Given the description of an element on the screen output the (x, y) to click on. 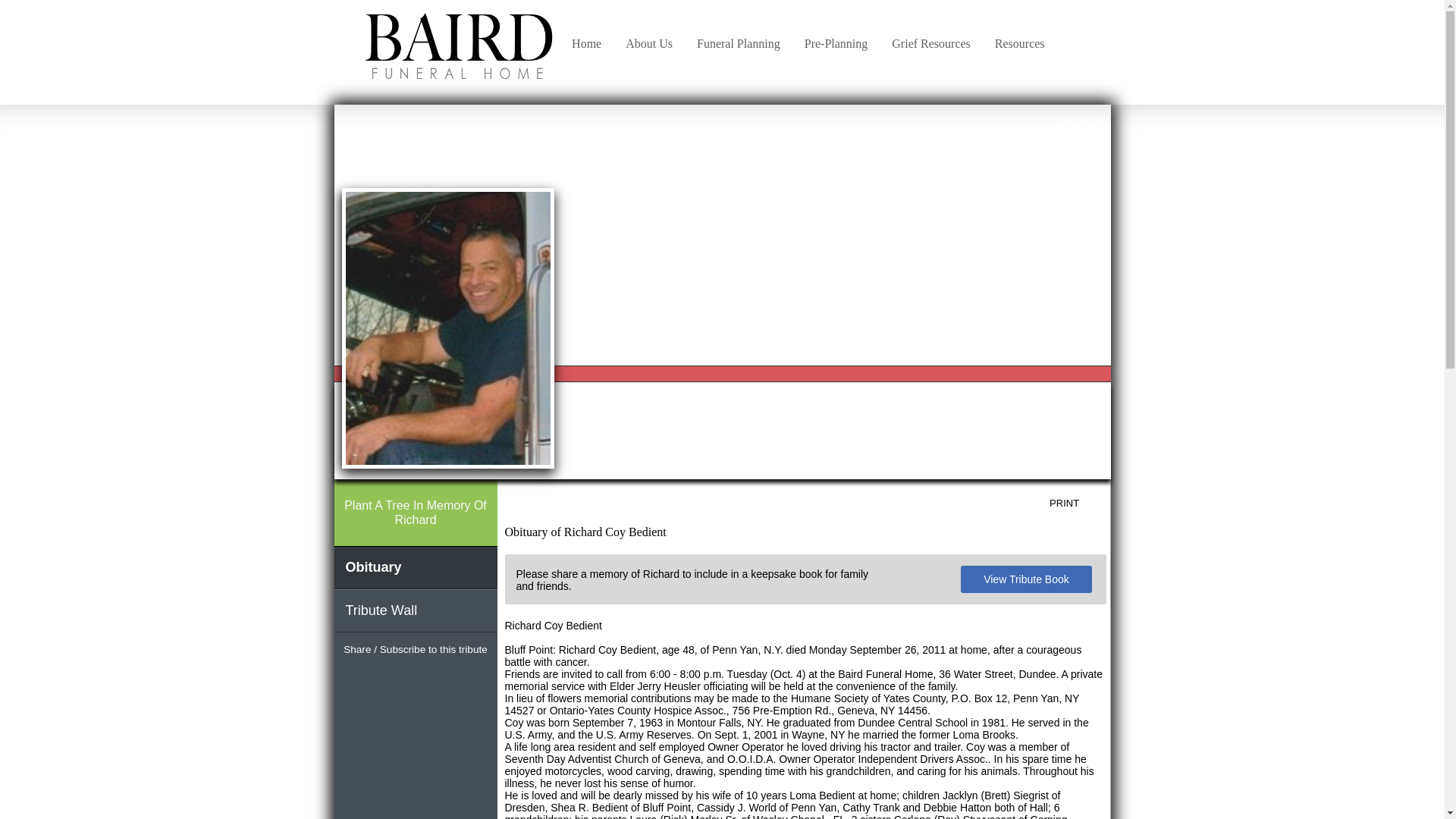
Receive Notifications (442, 678)
Grief Resources (930, 36)
Facebook (387, 678)
Resources (1019, 36)
Pre-Planning (836, 36)
About Us (648, 36)
Home (585, 36)
SIGN IN (1080, 121)
Twitter (415, 678)
Print (1075, 503)
Plant A Tree (414, 512)
Funeral Planning (738, 36)
